Given the description of an element on the screen output the (x, y) to click on. 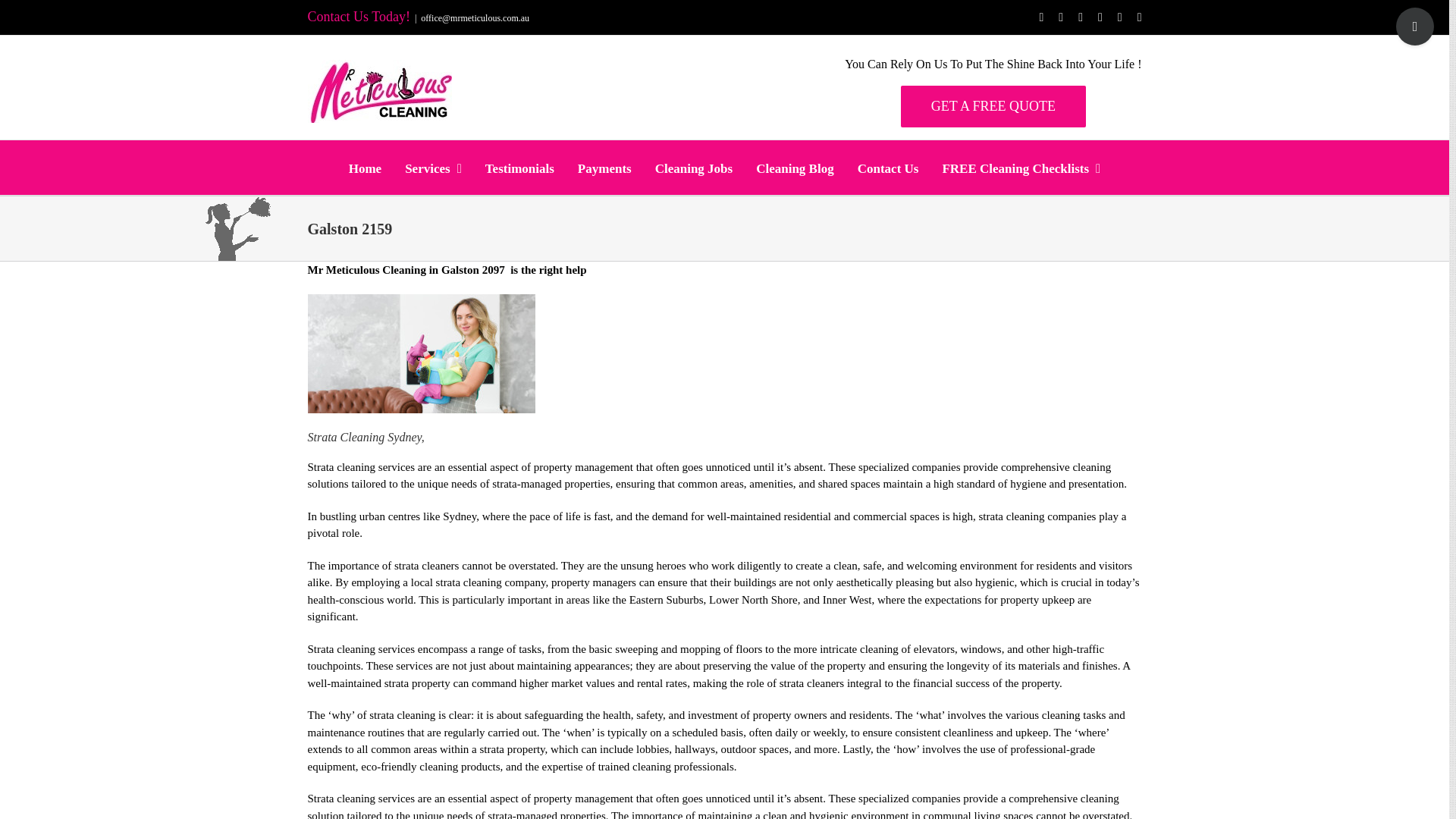
FREE Cleaning Checklists (1021, 167)
Contact Us Today! (358, 16)
Services (432, 167)
Payments (604, 167)
Testimonials (519, 167)
GET A FREE QUOTE (993, 106)
Cleaning Blog (794, 167)
Contact Us (887, 167)
Cleaning Jobs (694, 167)
Galston 2159 1 (421, 353)
